Given the description of an element on the screen output the (x, y) to click on. 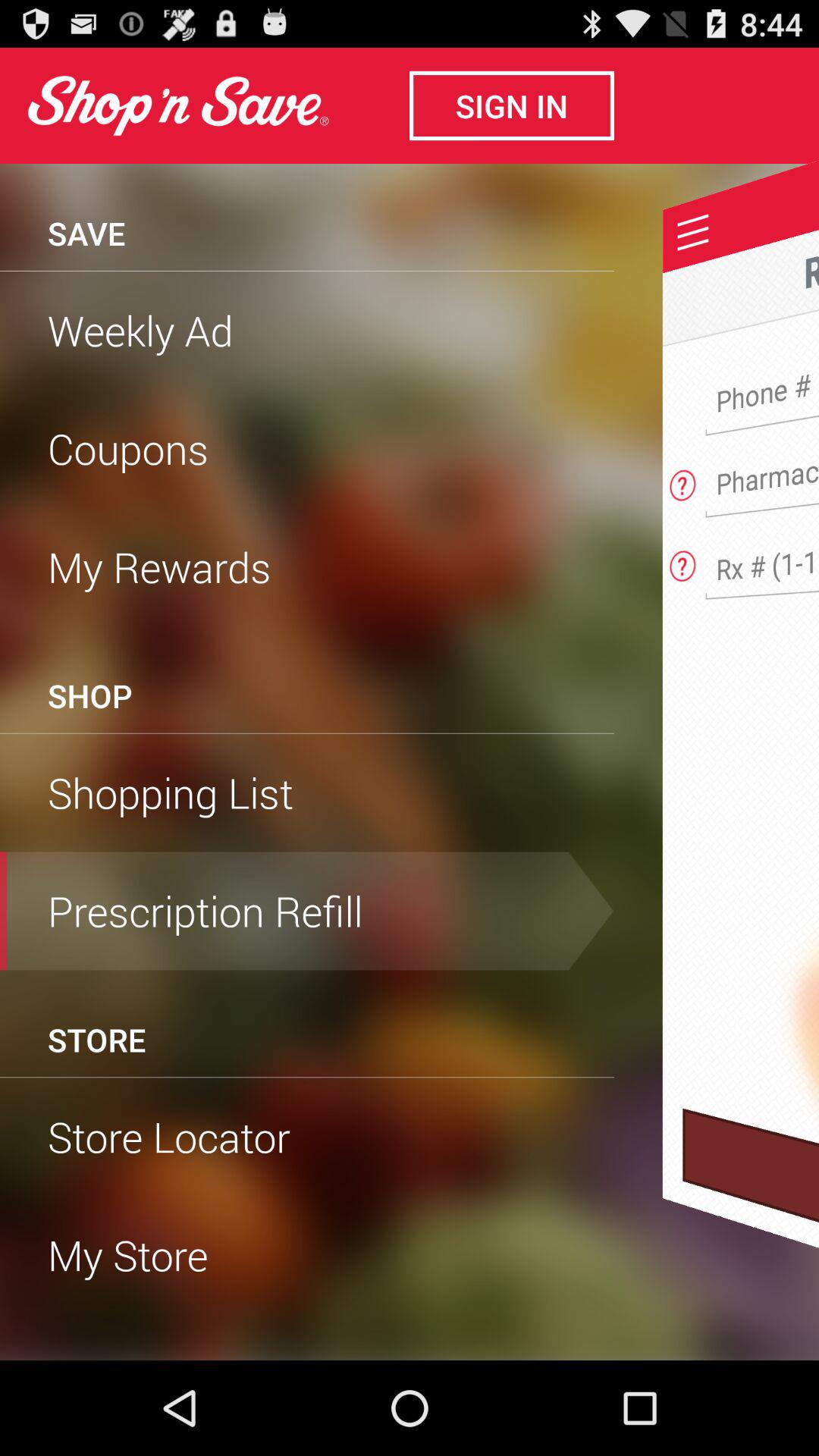
choose the icon below coupons icon (307, 566)
